Given the description of an element on the screen output the (x, y) to click on. 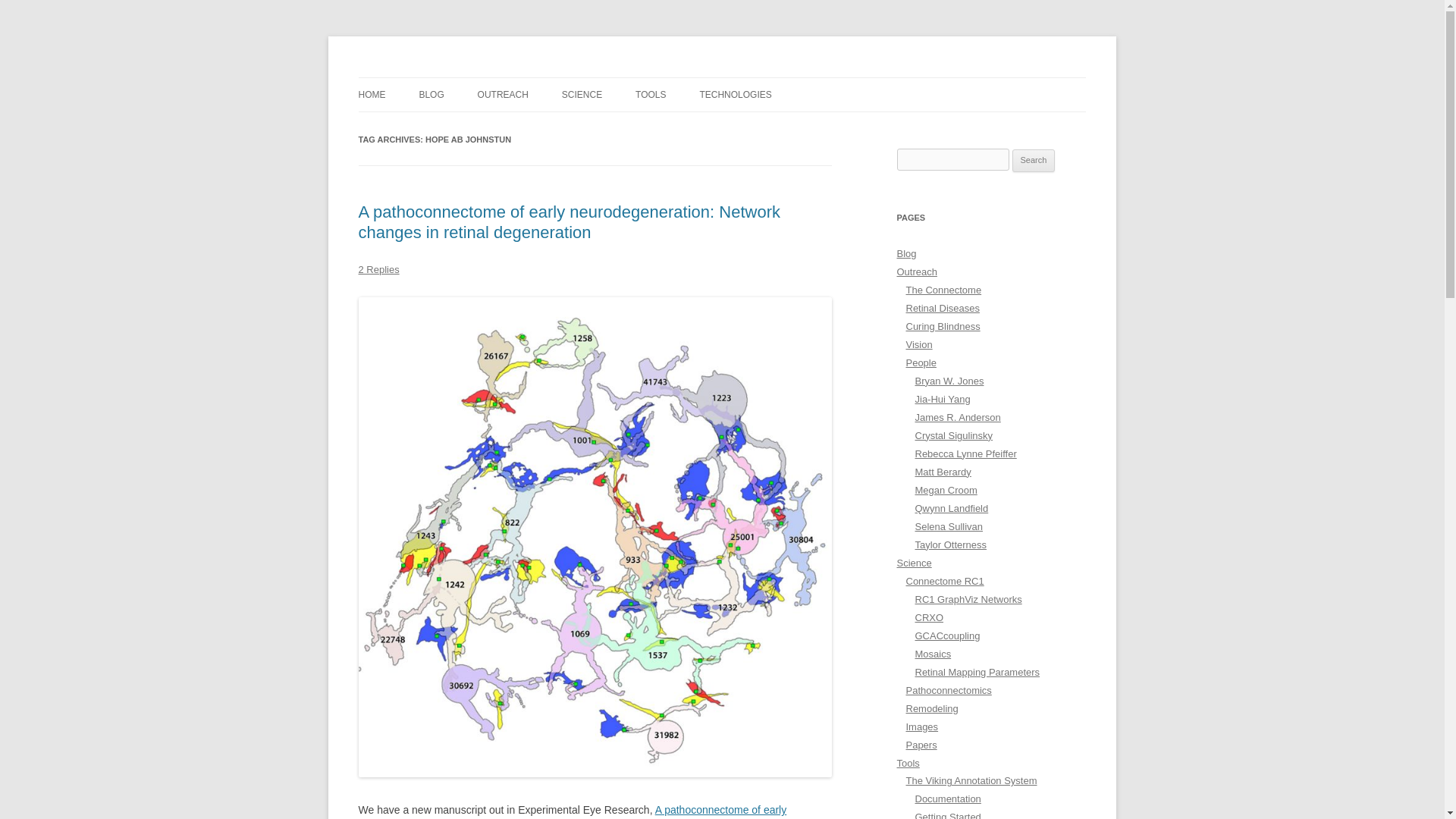
The Marclab for Connectomics (502, 76)
SCIENCE (582, 94)
TOOLS (649, 94)
Skip to content (757, 81)
Skip to content (757, 81)
2 Replies (378, 269)
Search (1033, 160)
OUTREACH (502, 94)
